Given the description of an element on the screen output the (x, y) to click on. 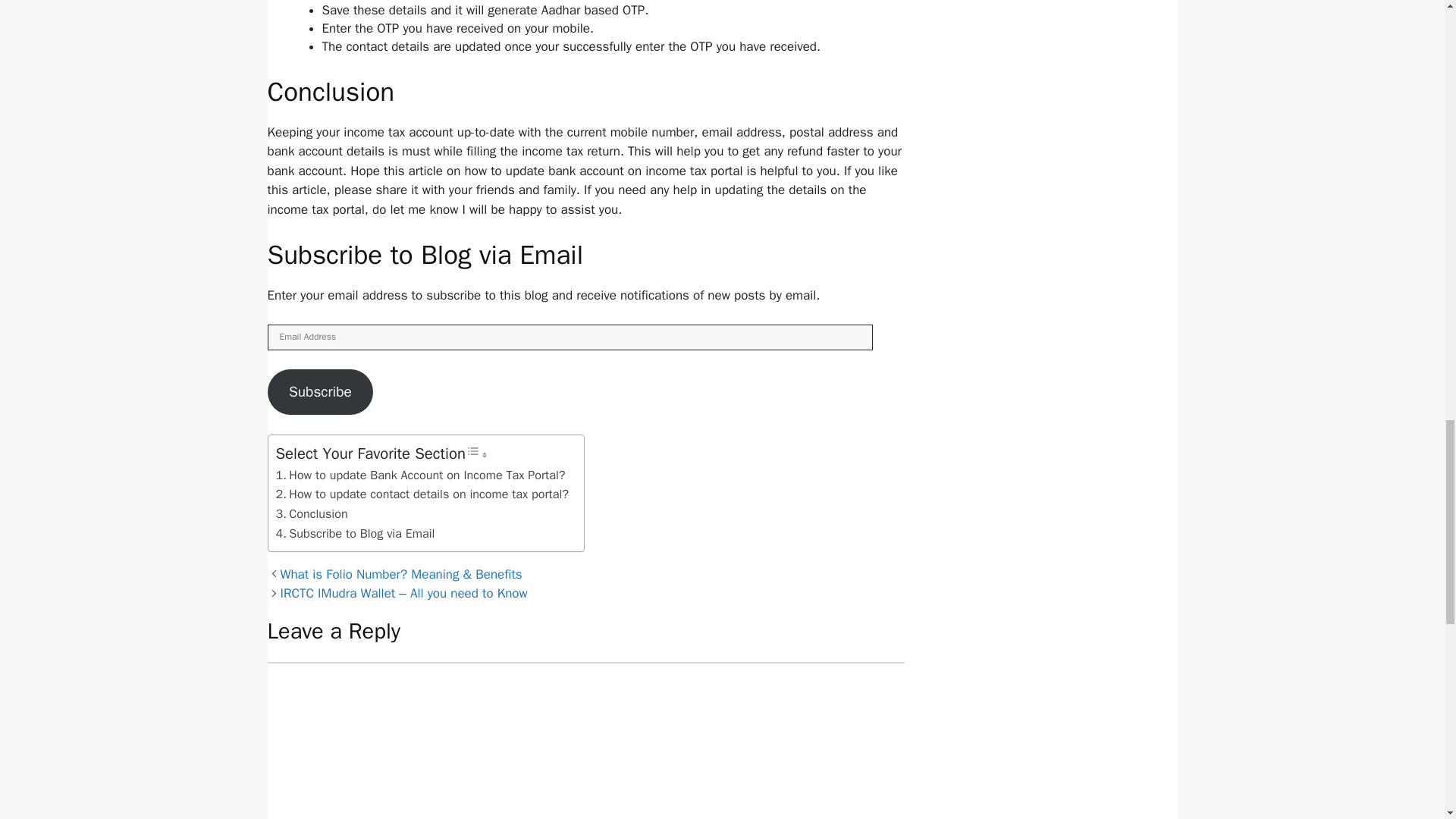
How to update Bank Account on Income Tax Portal? (421, 475)
Subscribe (319, 391)
Comment Form (585, 740)
Conclusion (311, 514)
How to update contact details on income tax portal? (422, 494)
How to update Bank Account on Income Tax Portal? (421, 475)
How to update contact details on income tax portal? (422, 494)
Subscribe to Blog via Email (355, 533)
Subscribe to Blog via Email (355, 533)
Conclusion (311, 514)
